Given the description of an element on the screen output the (x, y) to click on. 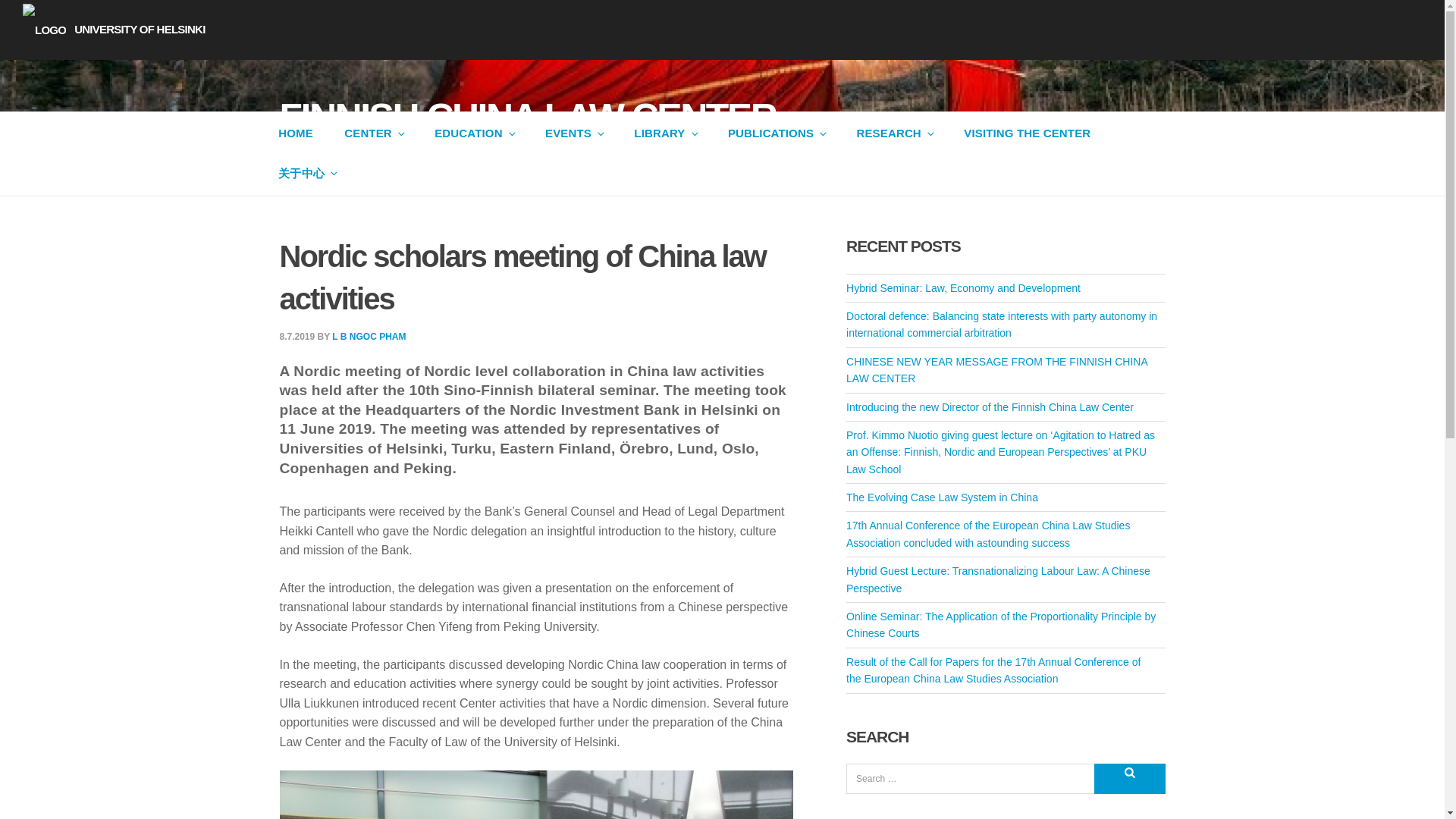
RESEARCH (895, 133)
EVENTS (573, 133)
VISITING THE CENTER (1027, 133)
PUBLICATIONS (776, 133)
HOME (294, 133)
FINNISH CHINA LAW CENTER (527, 117)
EDUCATION (473, 133)
LIBRARY (665, 133)
UNIVERSITY OF HELSINKI (114, 29)
CENTER (373, 133)
